Given the description of an element on the screen output the (x, y) to click on. 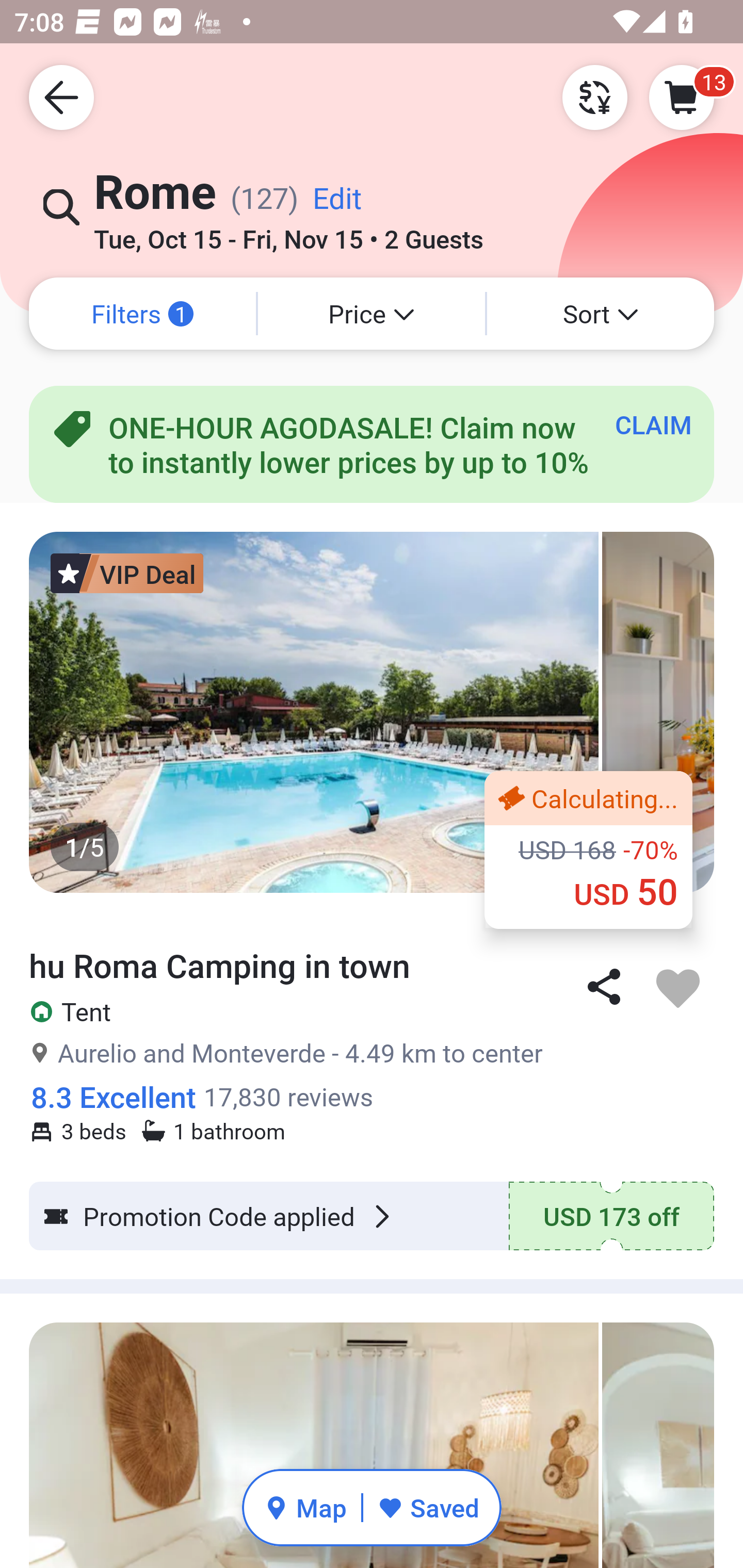
Filters 1 (141, 313)
Price (371, 313)
Sort (600, 313)
CLAIM (653, 424)
VIP Deal (126, 572)
1/5 (371, 711)
Calculating... ‪USD 168 -70% ‪USD 50 (588, 849)
Promotion Code applied USD 173 off (371, 1215)
Map (305, 1507)
Saved (428, 1507)
